Given the description of an element on the screen output the (x, y) to click on. 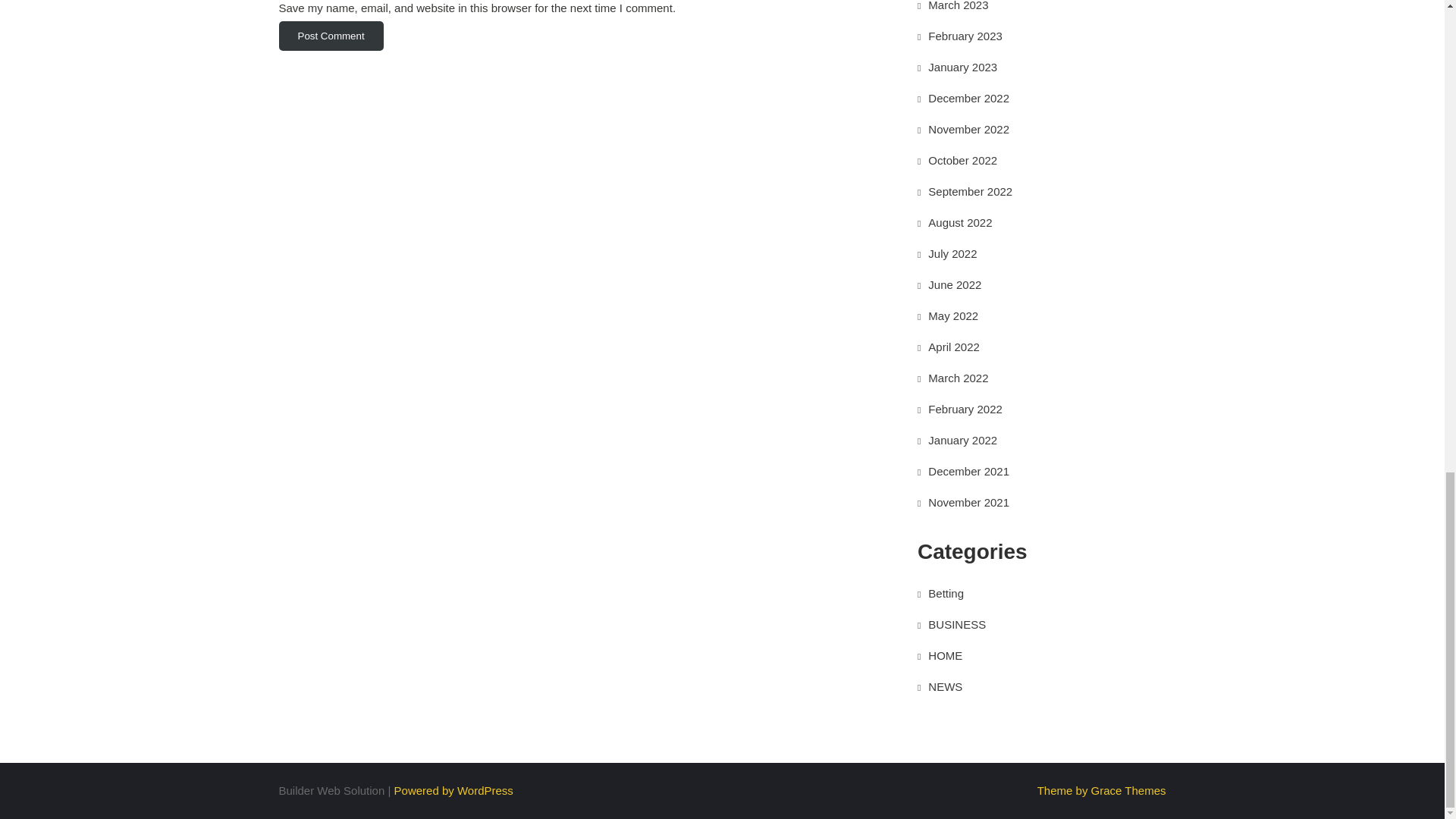
Post Comment (331, 35)
Post Comment (331, 35)
